Given the description of an element on the screen output the (x, y) to click on. 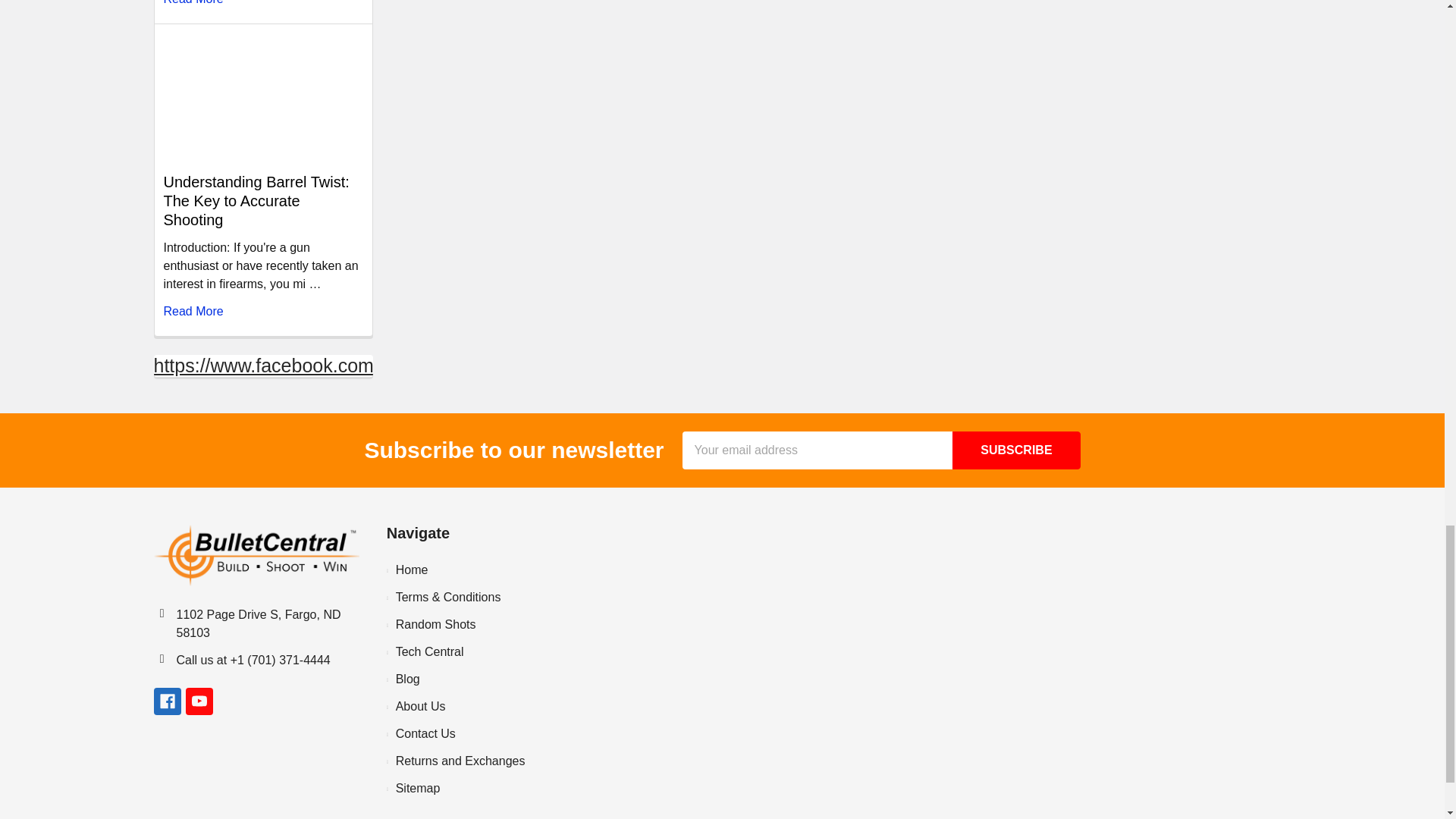
Subscribe (1016, 450)
Understanding Barrel Twist: The Key to Accurate Shooting (262, 96)
